Given the description of an element on the screen output the (x, y) to click on. 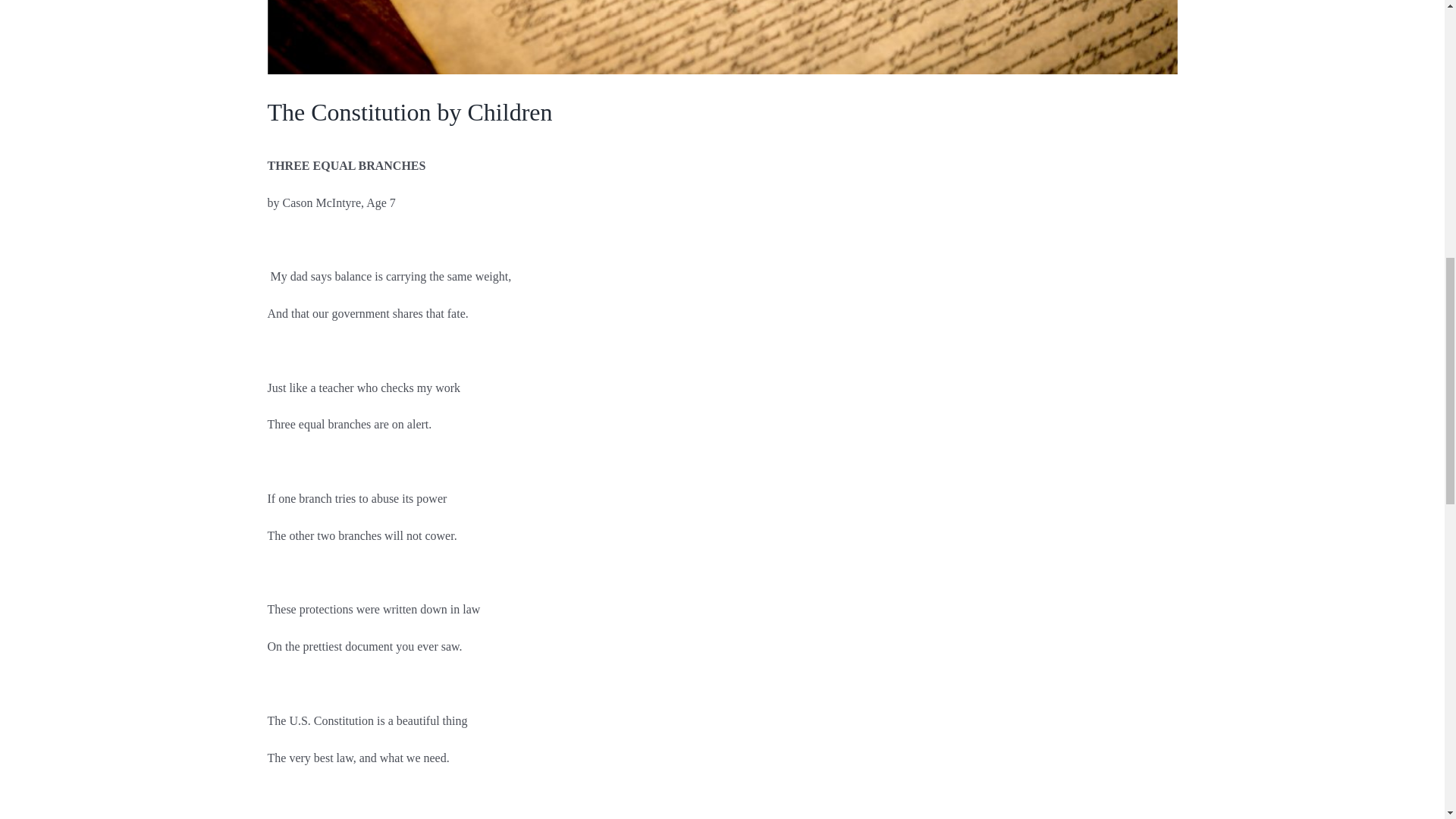
View Larger Image (721, 37)
